Given the description of an element on the screen output the (x, y) to click on. 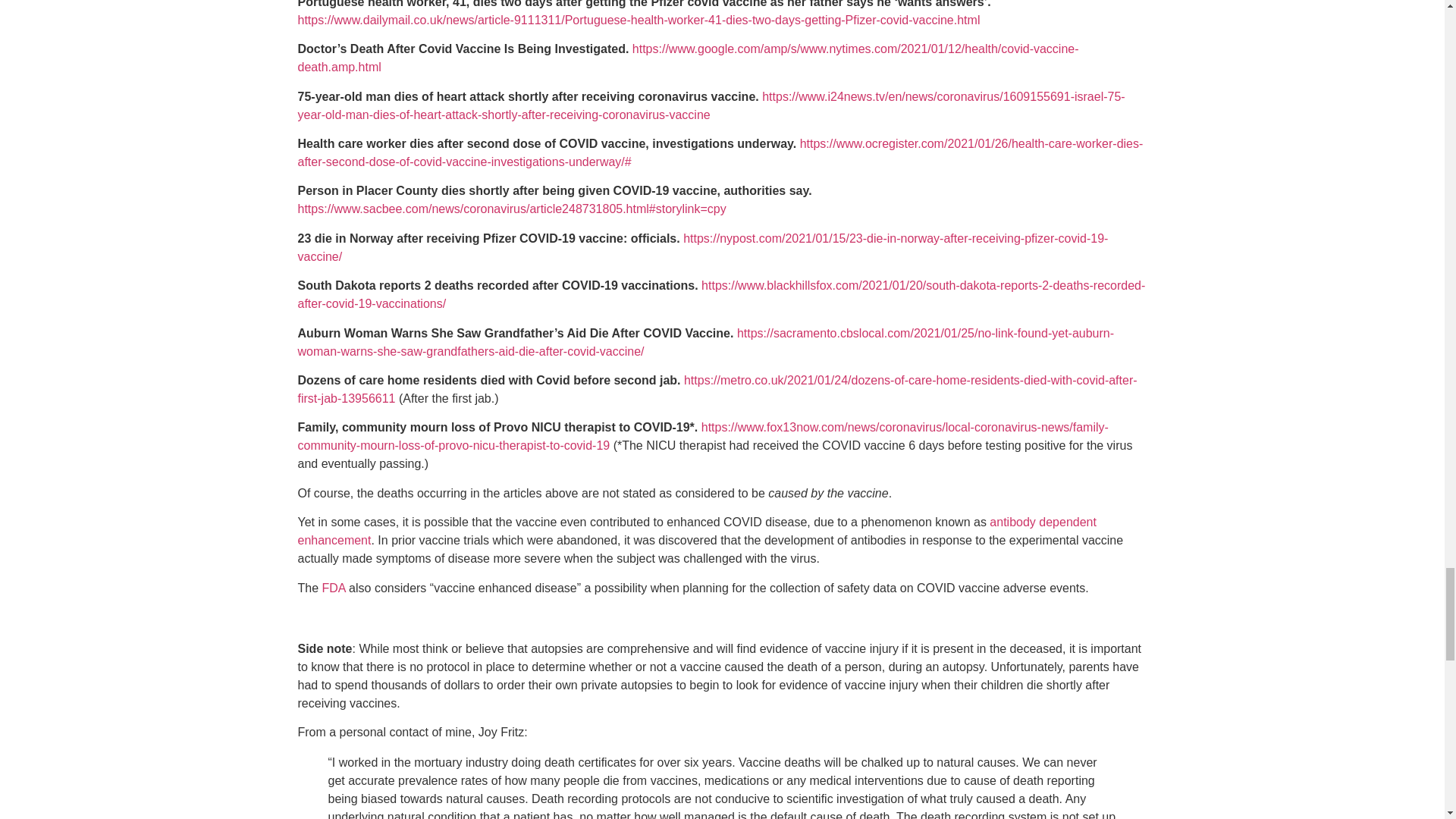
antibody dependent enhancement (696, 531)
FDA (333, 587)
